Given the description of an element on the screen output the (x, y) to click on. 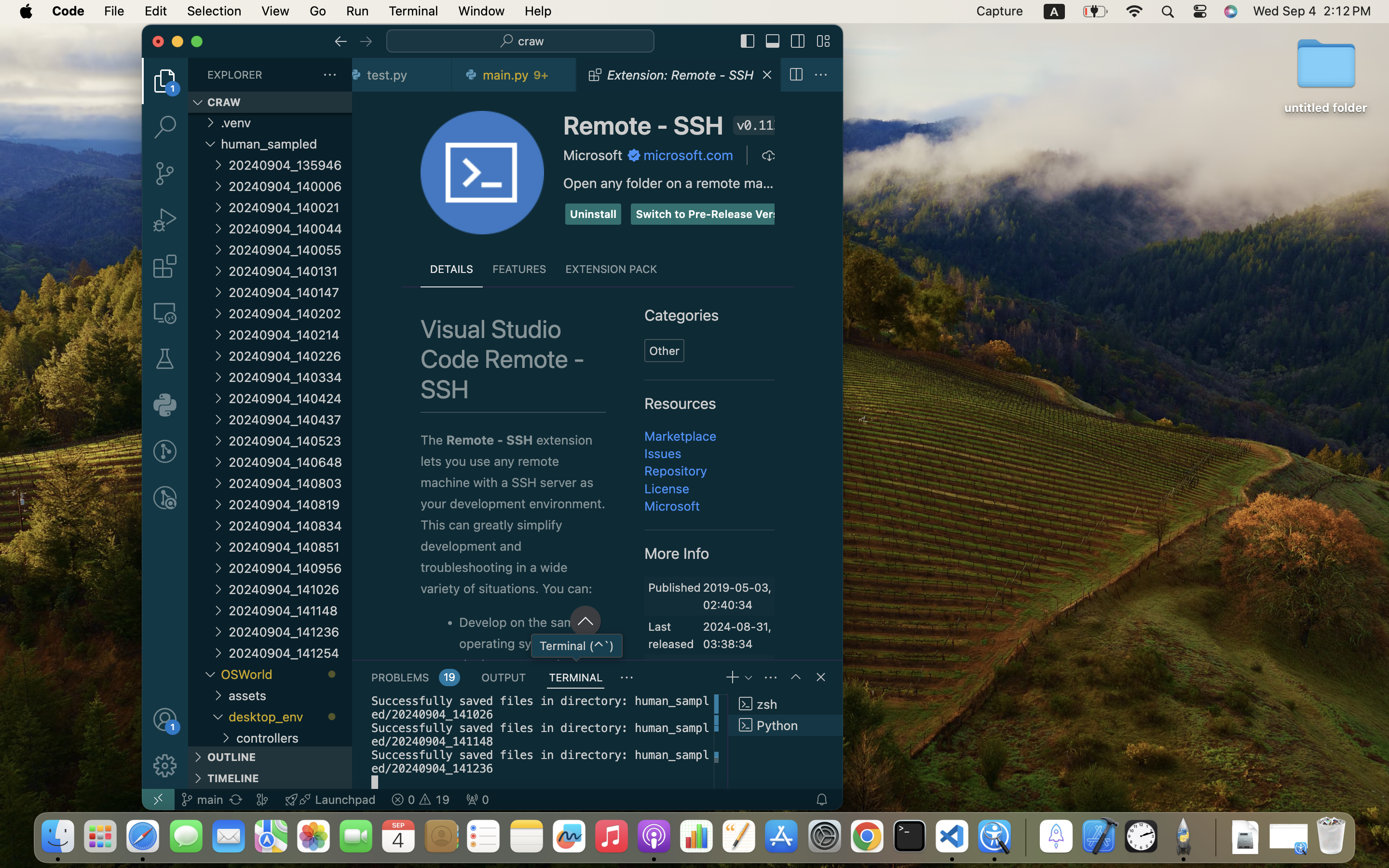
20240904_140819 Element type: AXGroup (290, 504)
craw Element type: AXStaticText (530, 41)
0 test.py   Element type: AXRadioButton (402, 74)
 Element type: AXGroup (164, 497)
Visual Studio Code Remote - SSH Element type: AXStaticText (502, 359)
